Given the description of an element on the screen output the (x, y) to click on. 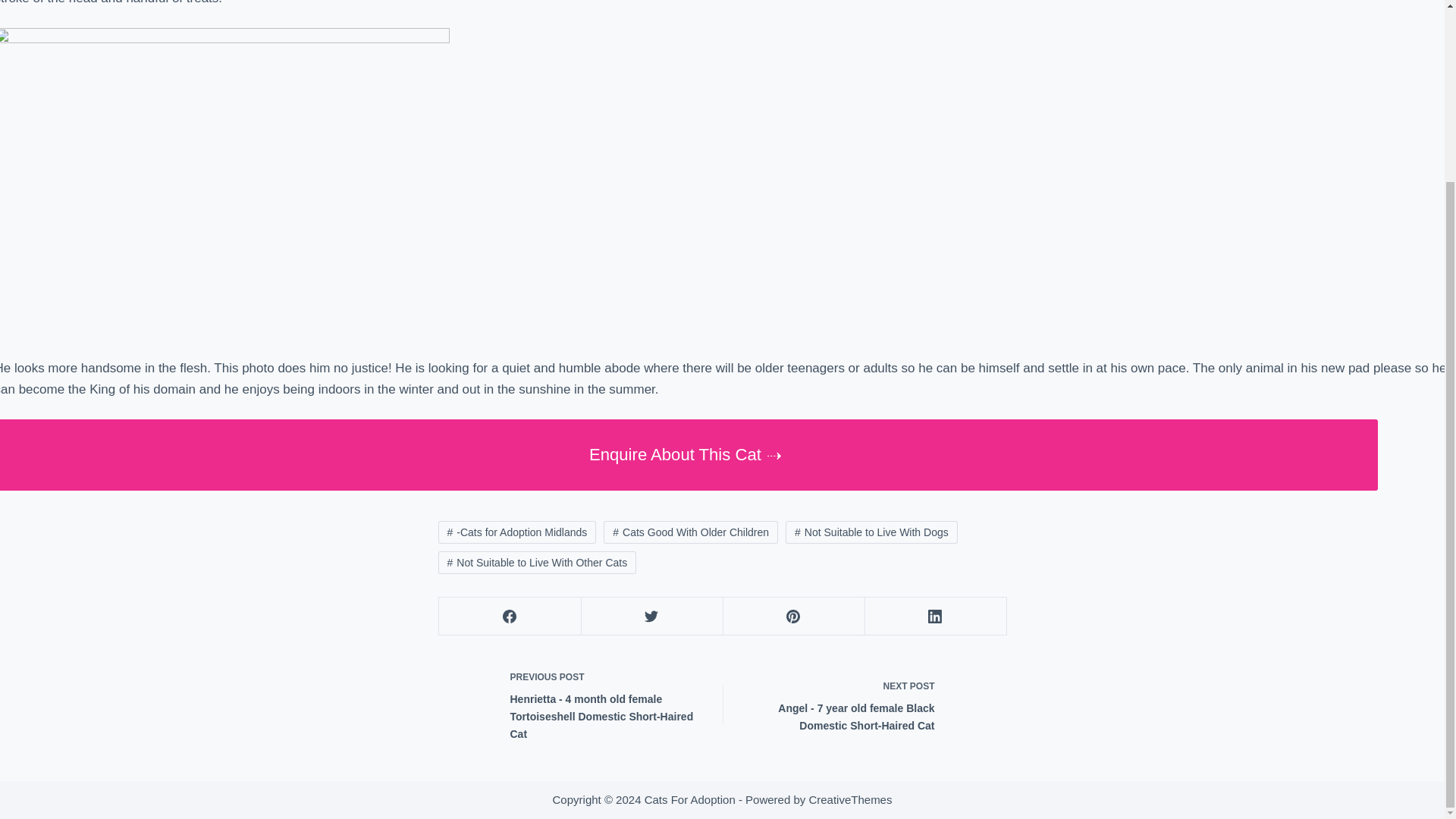
Not Suitable to Live With Dogs (872, 531)
-Cats for Adoption Midlands (517, 531)
Cats Good With Older Children (690, 531)
Not Suitable to Live With Other Cats (537, 562)
